Given the description of an element on the screen output the (x, y) to click on. 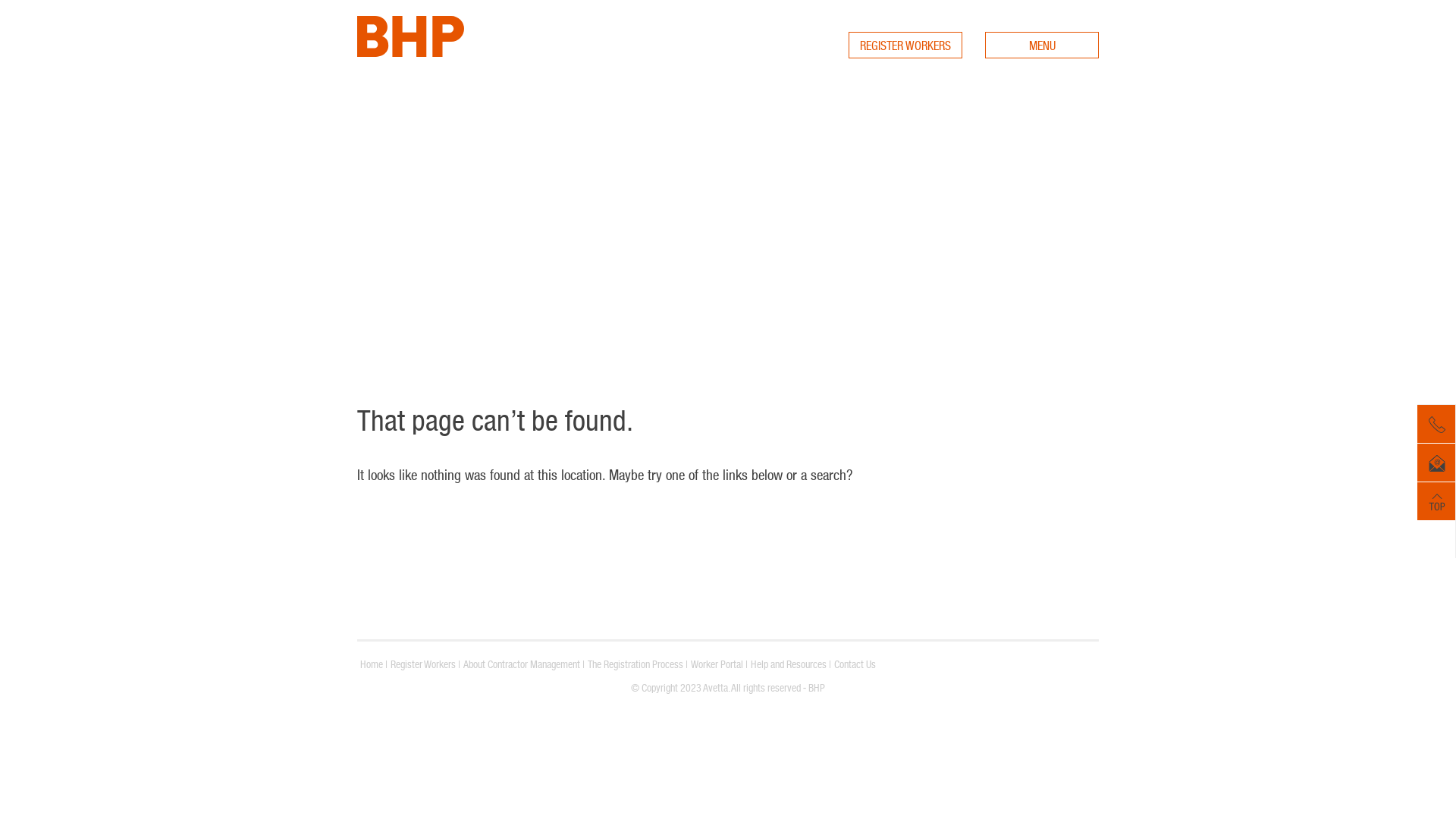
BHP Mt Arthur Coal Contractors Element type: text (410, 50)
Help and Resources Element type: text (788, 664)
Worker Portal Element type: text (716, 664)
Contact Us Element type: text (854, 664)
Home Element type: text (371, 664)
MENU Element type: text (1041, 44)
Register Workers Element type: text (422, 664)
About Contractor Management Element type: text (521, 664)
REGISTER WORKERS Element type: text (905, 44)
The Registration Process Element type: text (635, 664)
